Given the description of an element on the screen output the (x, y) to click on. 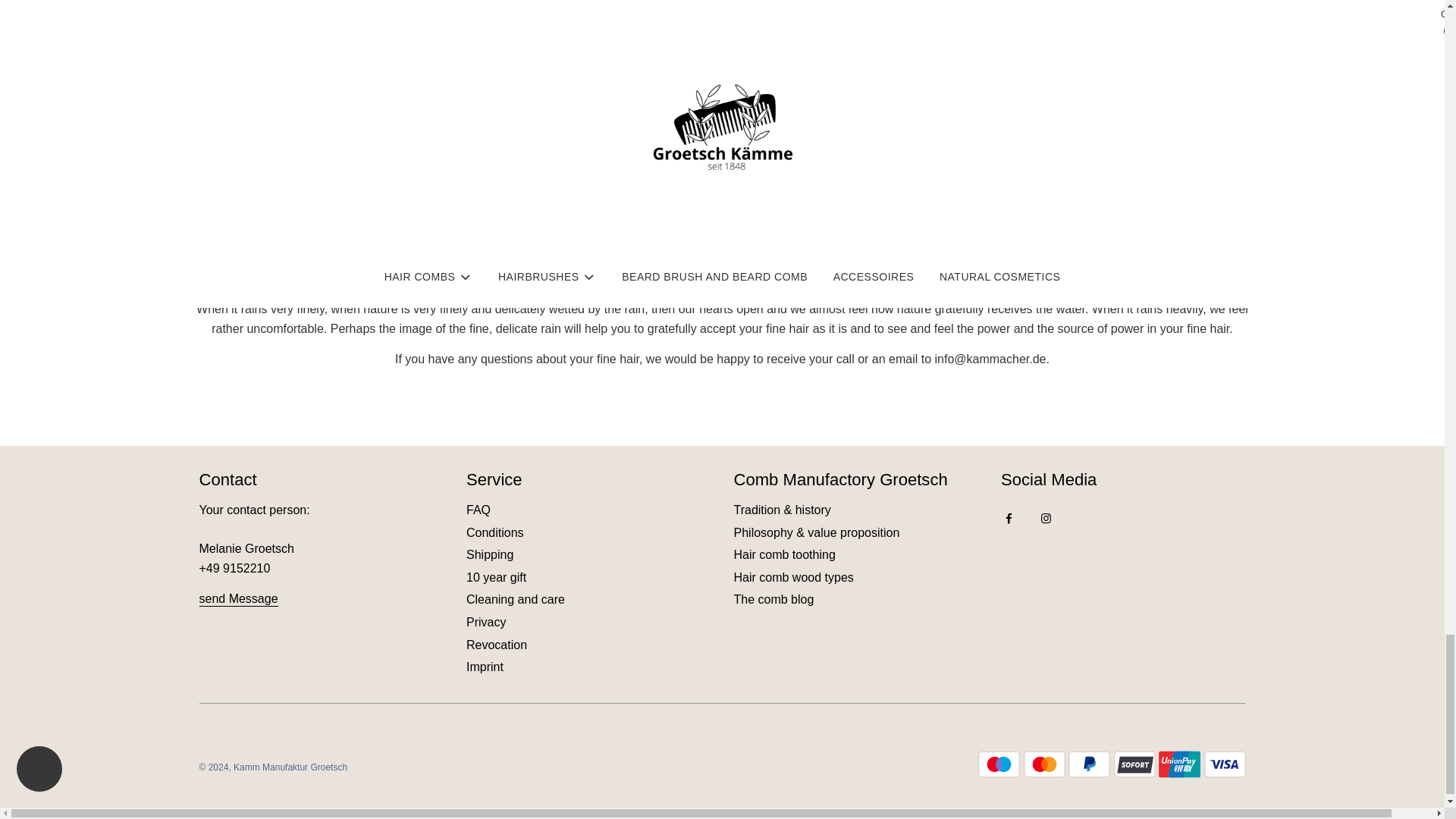
Mastercard (1044, 764)
PayPal (1088, 764)
Contact (238, 599)
Visa (1225, 764)
Maestro (999, 764)
SOFORT (1134, 764)
Union Pay (1178, 764)
